Given the description of an element on the screen output the (x, y) to click on. 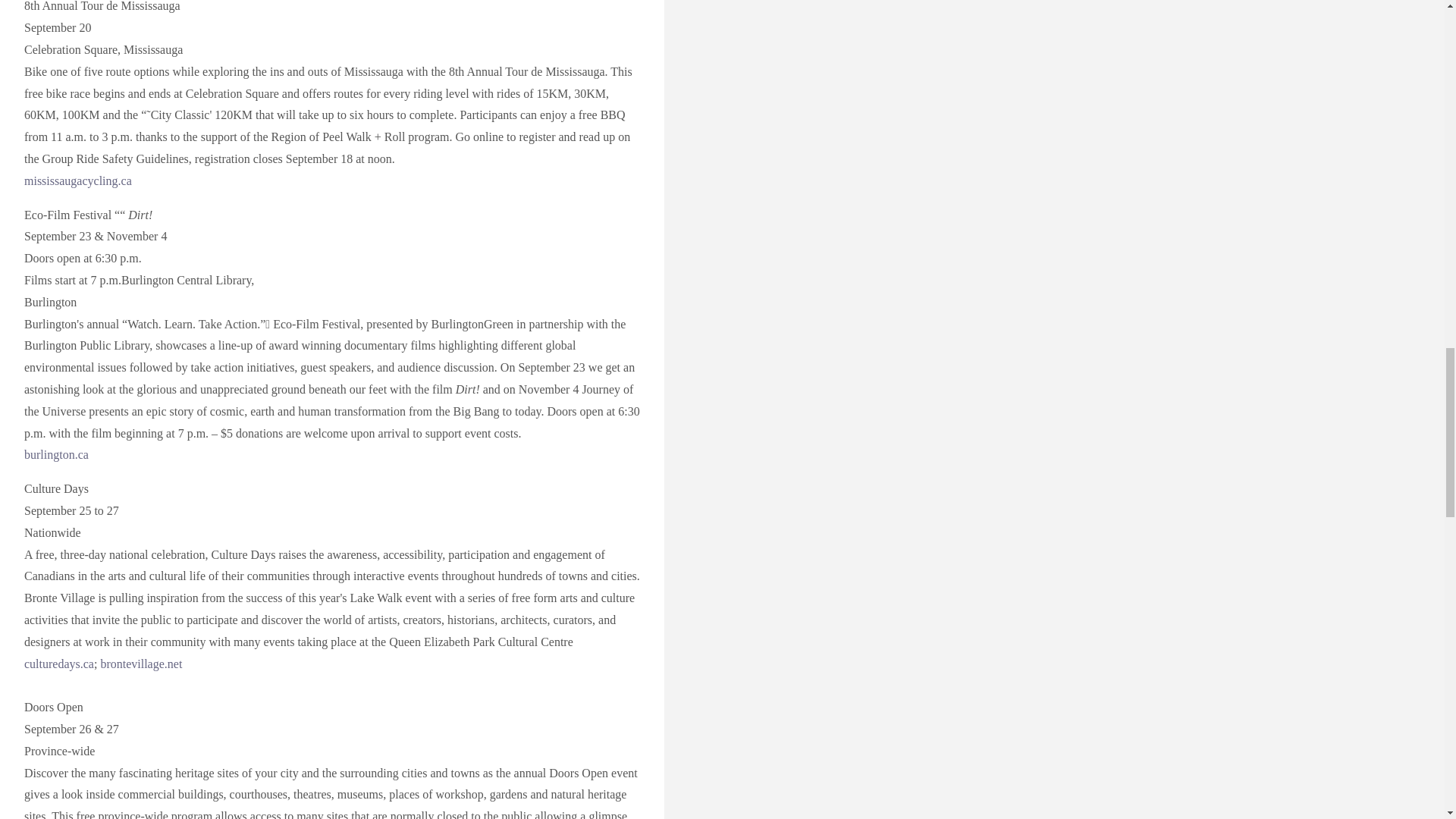
culturedays.ca (59, 663)
burlington.ca (56, 454)
brontevillage.net (141, 663)
mississaugacycling.ca (78, 180)
